Given the description of an element on the screen output the (x, y) to click on. 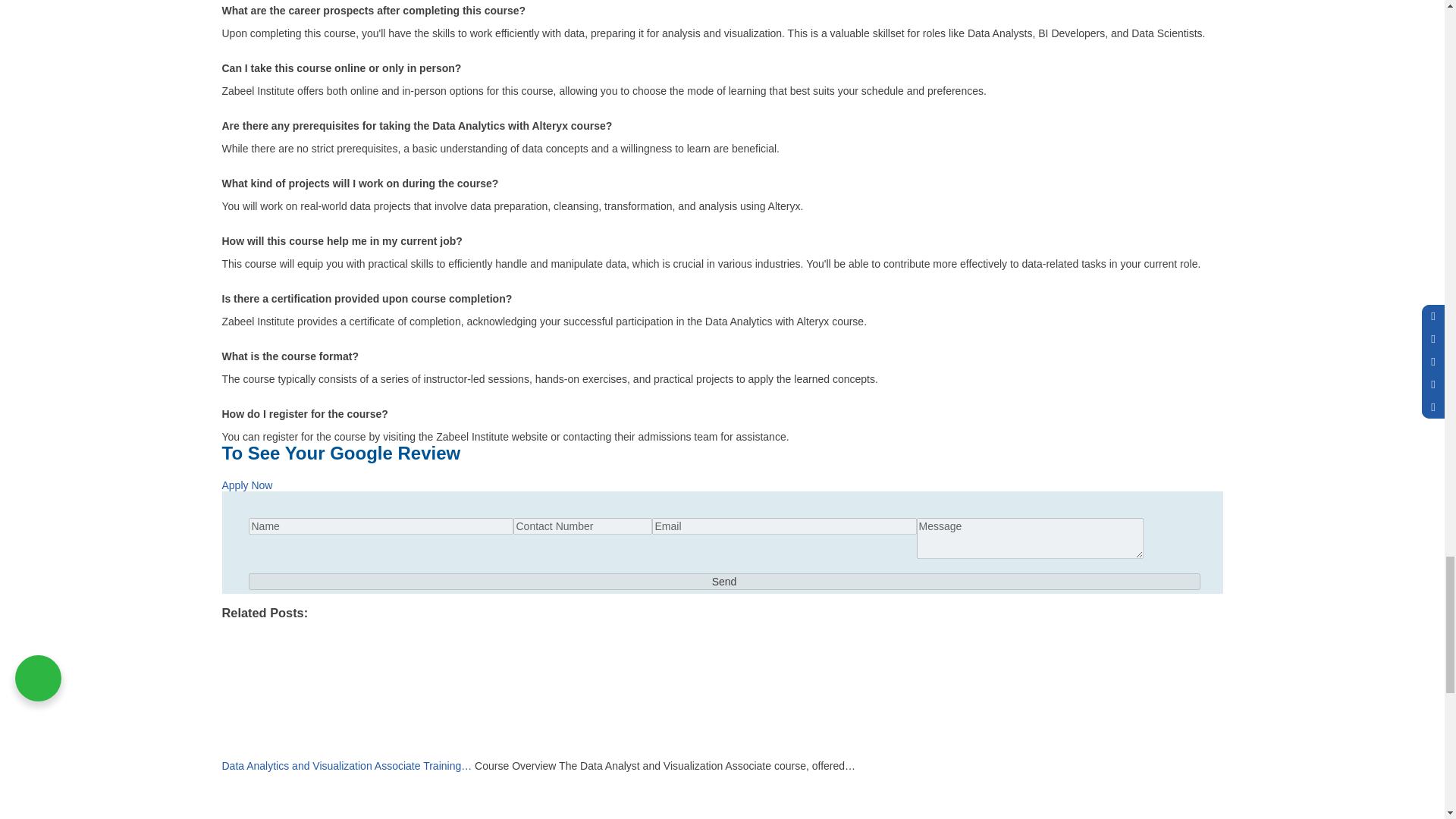
Send (723, 581)
